Given the description of an element on the screen output the (x, y) to click on. 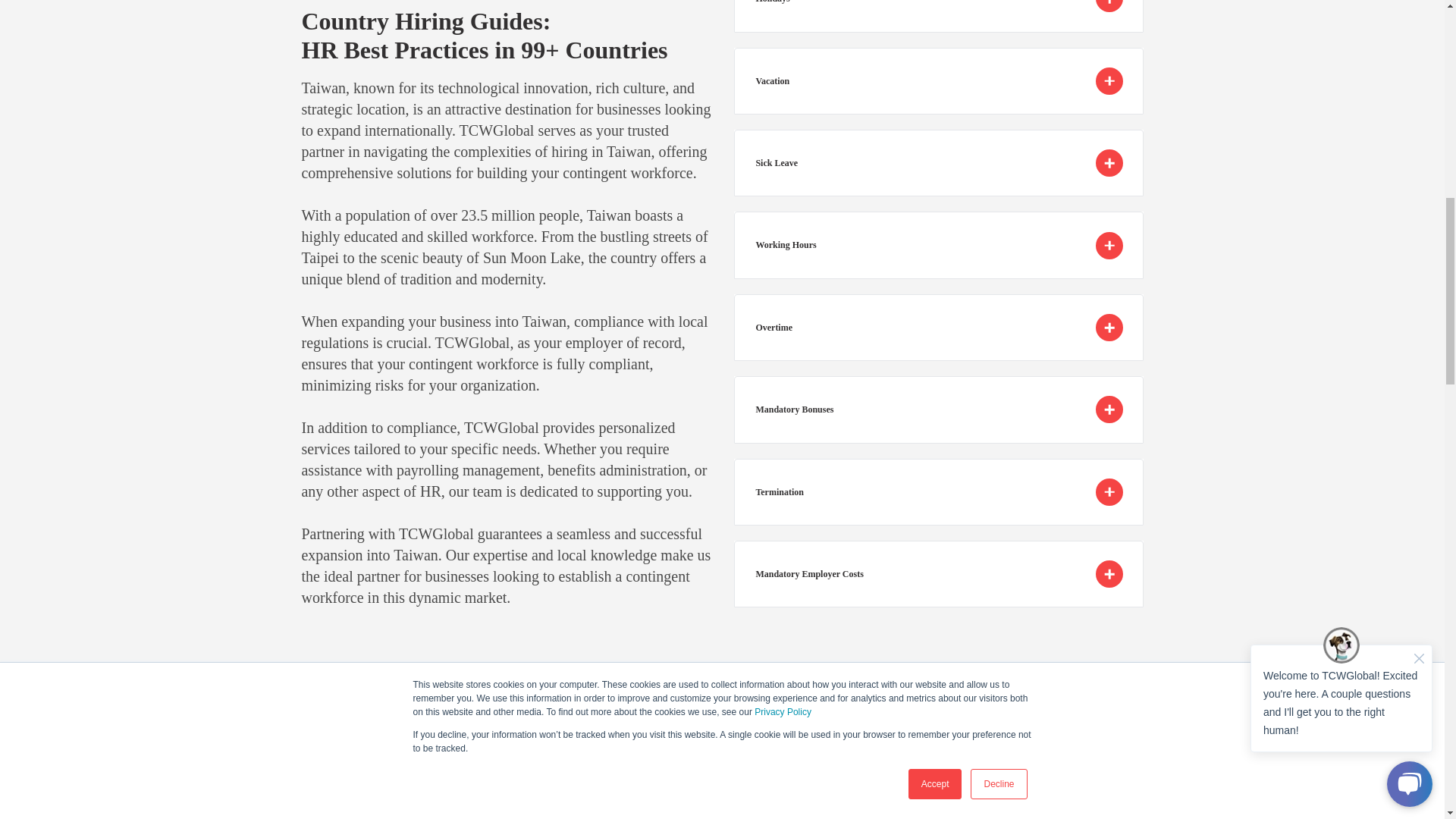
How an EOR Can Help You Win Fast (506, 798)
